Given the description of an element on the screen output the (x, y) to click on. 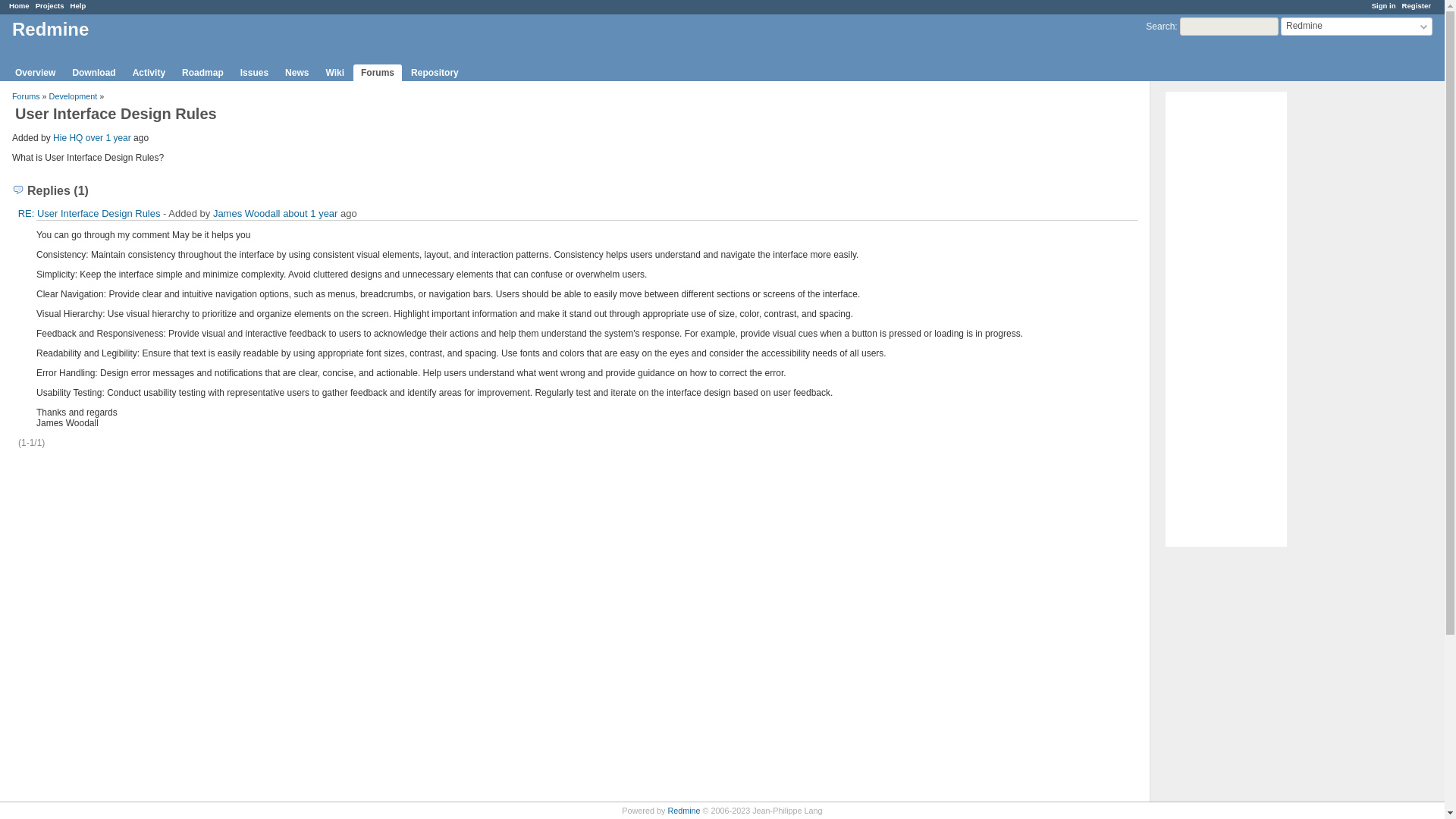
Sign in (1383, 5)
Download (93, 72)
over 1 year (108, 137)
Projects (49, 5)
Activity (149, 72)
Development (73, 95)
RE: User Interface Design Rules (88, 213)
2023-02-03 07:47 (108, 137)
Repository (434, 72)
Forums (377, 72)
